Given the description of an element on the screen output the (x, y) to click on. 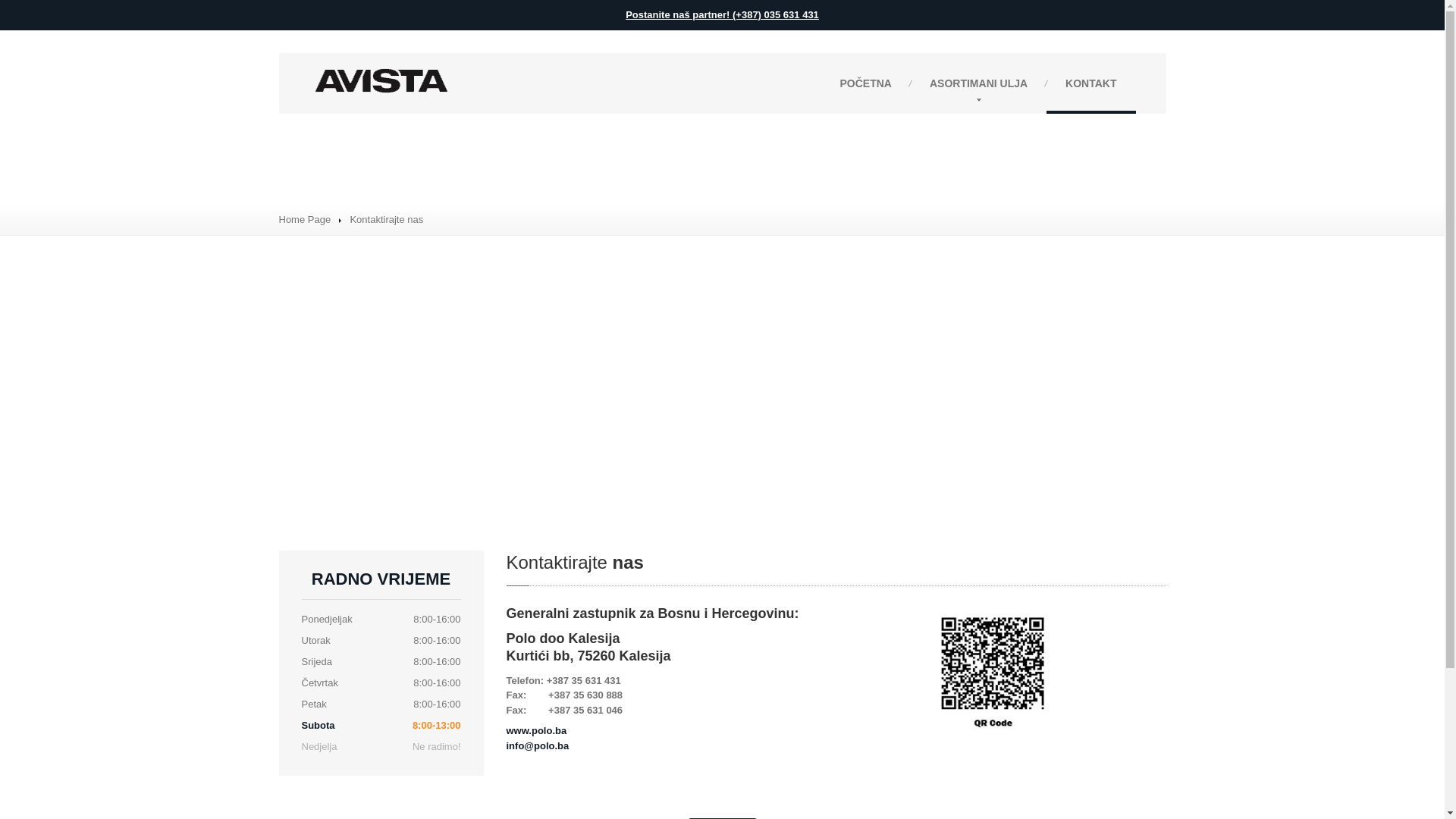
ASORTIMANI ULJA Element type: text (978, 83)
KONTAKT Element type: text (1090, 83)
info@polo.ba Element type: text (537, 745)
Home Page Element type: text (305, 219)
www.polo.ba Element type: text (536, 730)
